Given the description of an element on the screen output the (x, y) to click on. 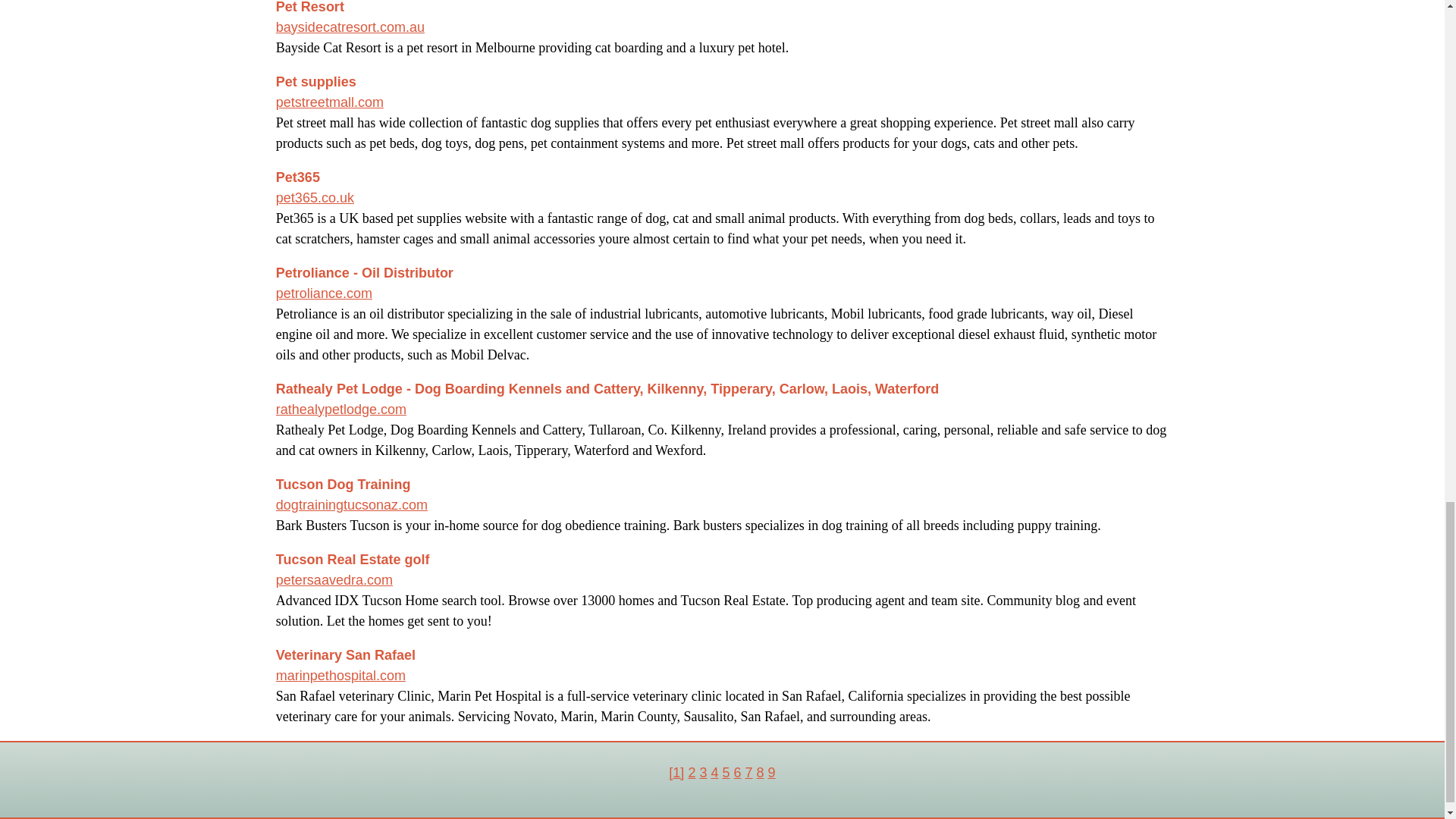
dogtrainingtucsonaz.com (352, 504)
marinpethospital.com (341, 675)
petroliance.com (324, 293)
pet365.co.uk (314, 197)
baysidecatresort.com.au (350, 27)
rathealypetlodge.com (341, 409)
petstreetmall.com (330, 102)
petersaavedra.com (334, 580)
